Given the description of an element on the screen output the (x, y) to click on. 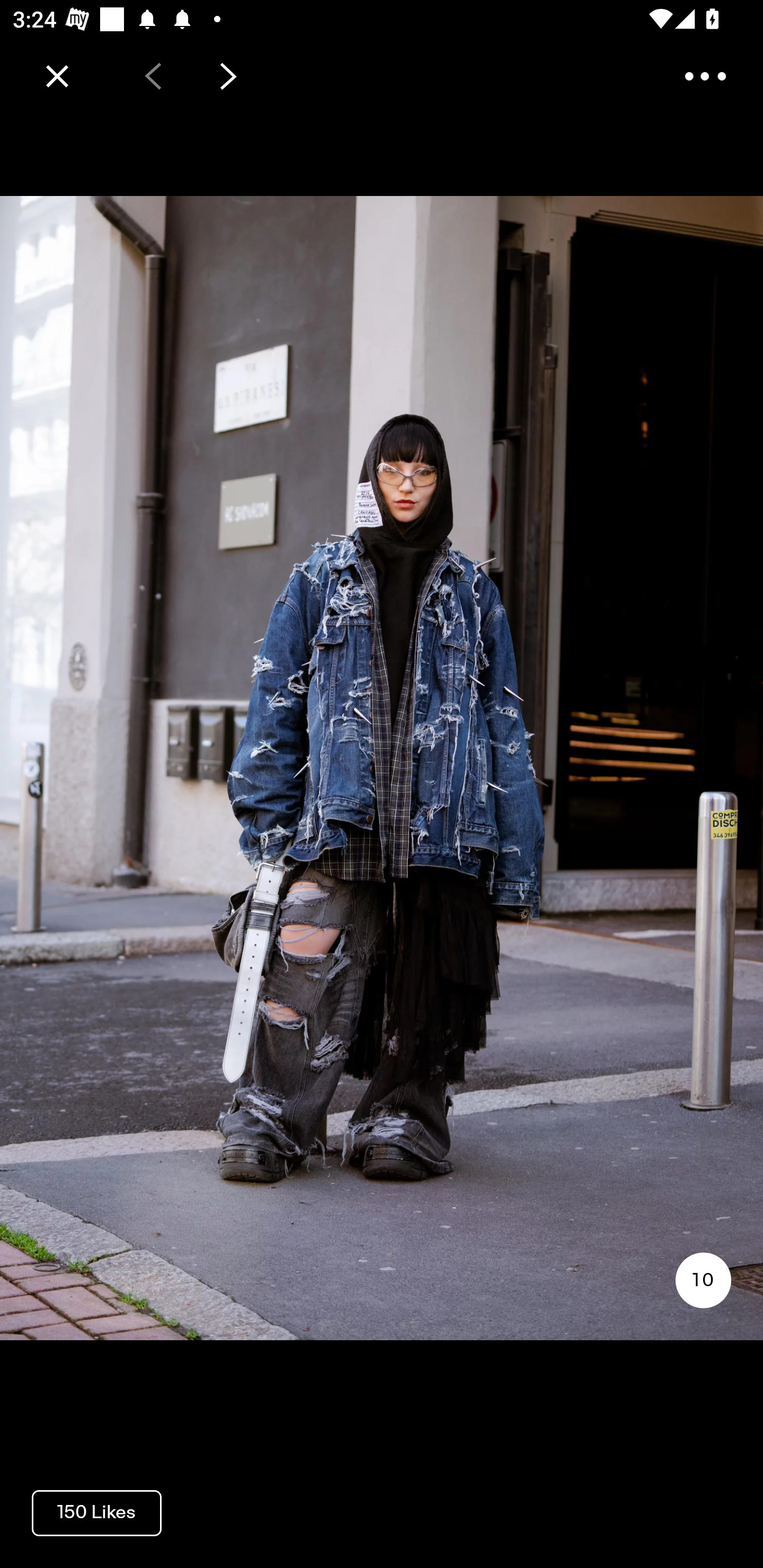
10 (702, 1279)
150 Likes (96, 1512)
